Given the description of an element on the screen output the (x, y) to click on. 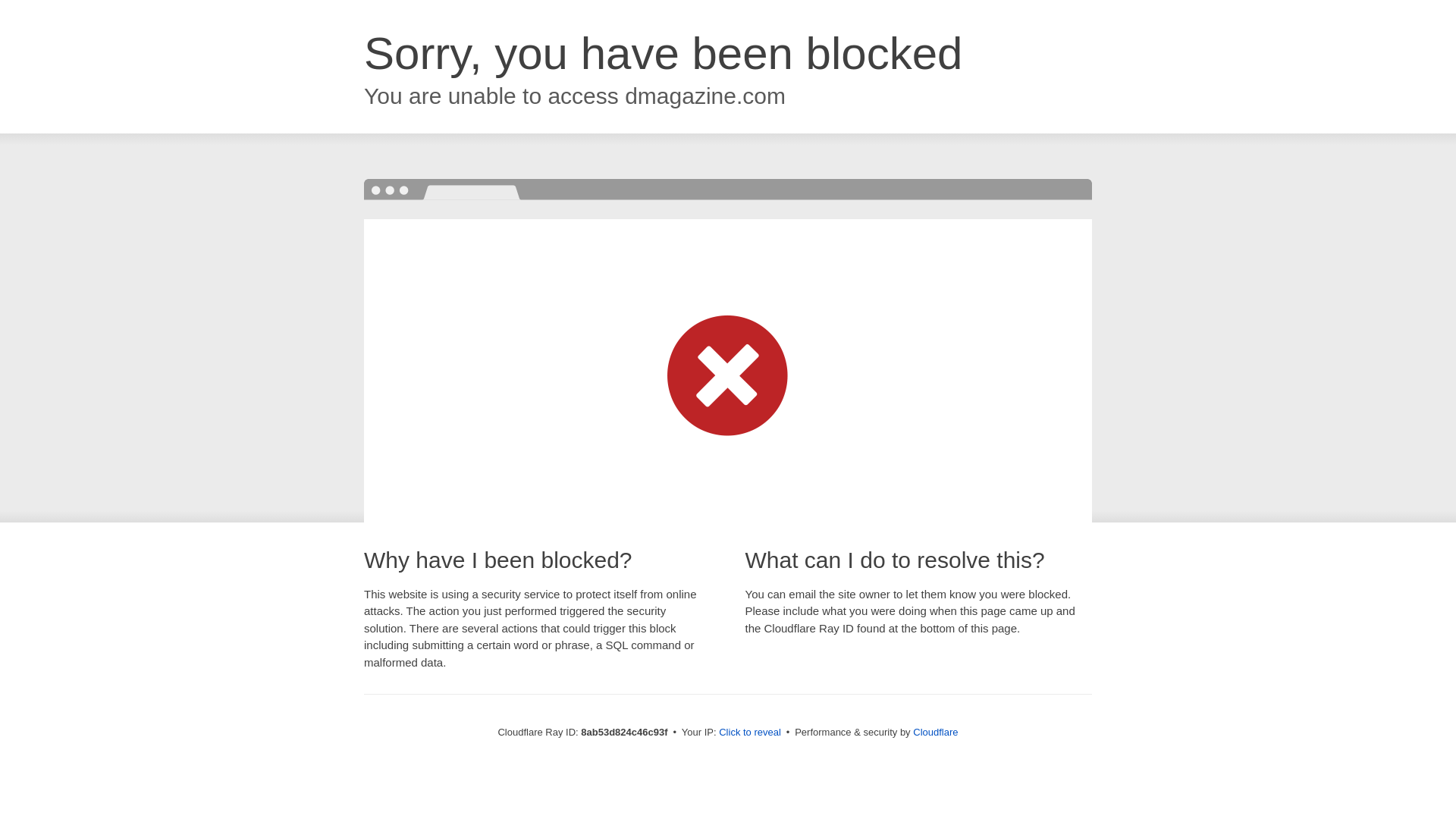
Cloudflare (935, 731)
Click to reveal (749, 732)
